Given the description of an element on the screen output the (x, y) to click on. 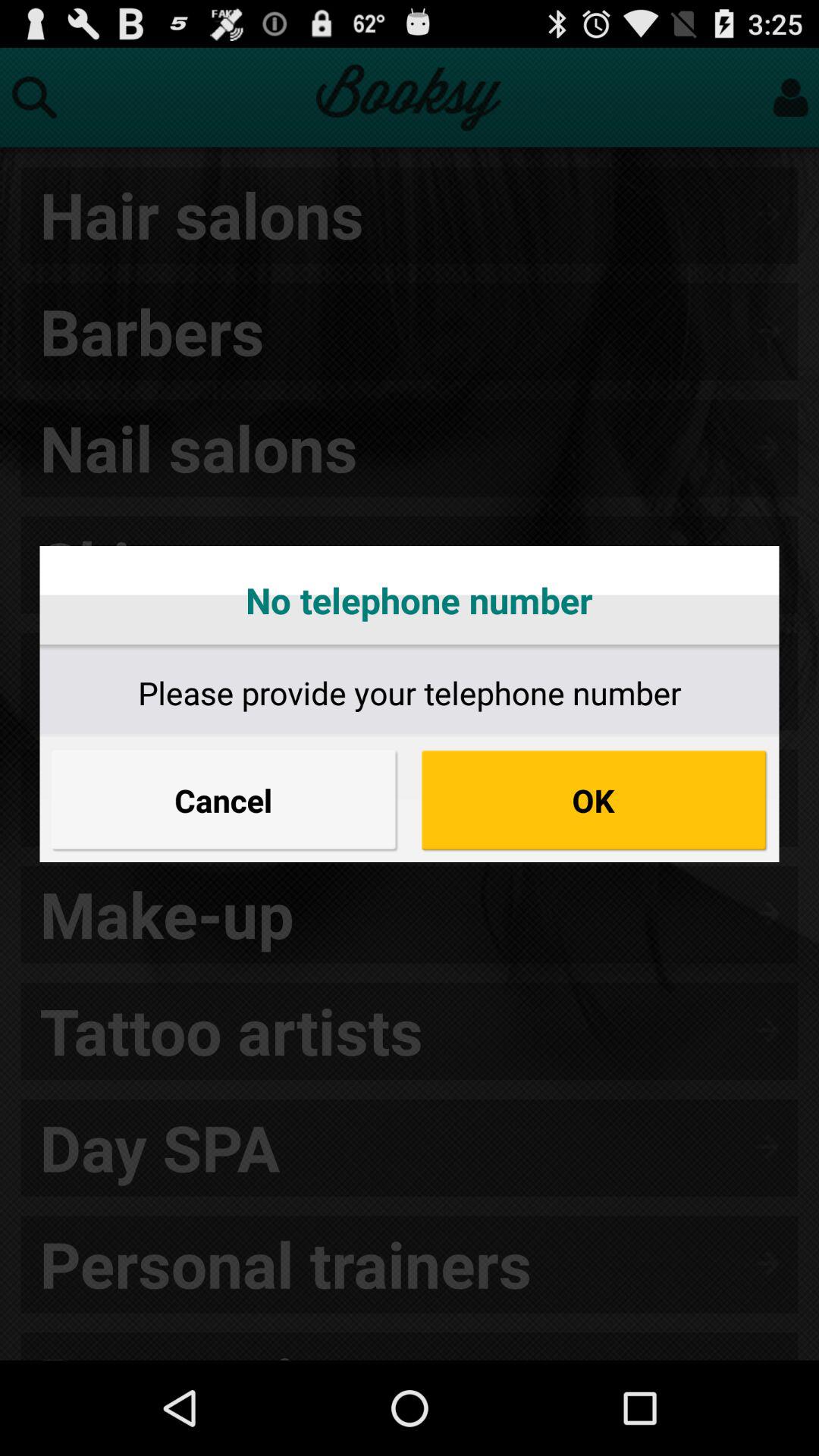
choose the button next to ok (224, 799)
